Given the description of an element on the screen output the (x, y) to click on. 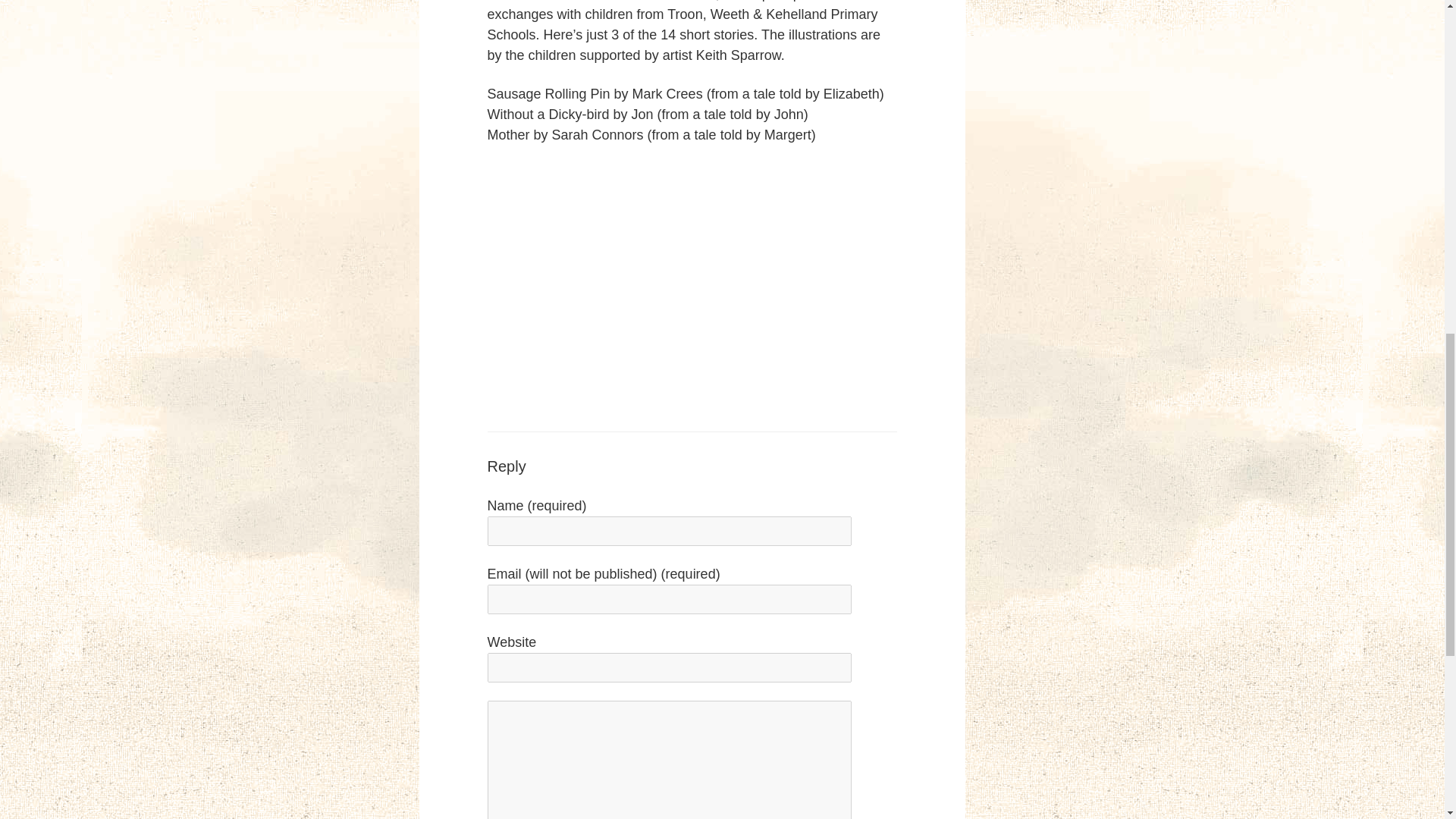
YouTube video player (698, 282)
